Given the description of an element on the screen output the (x, y) to click on. 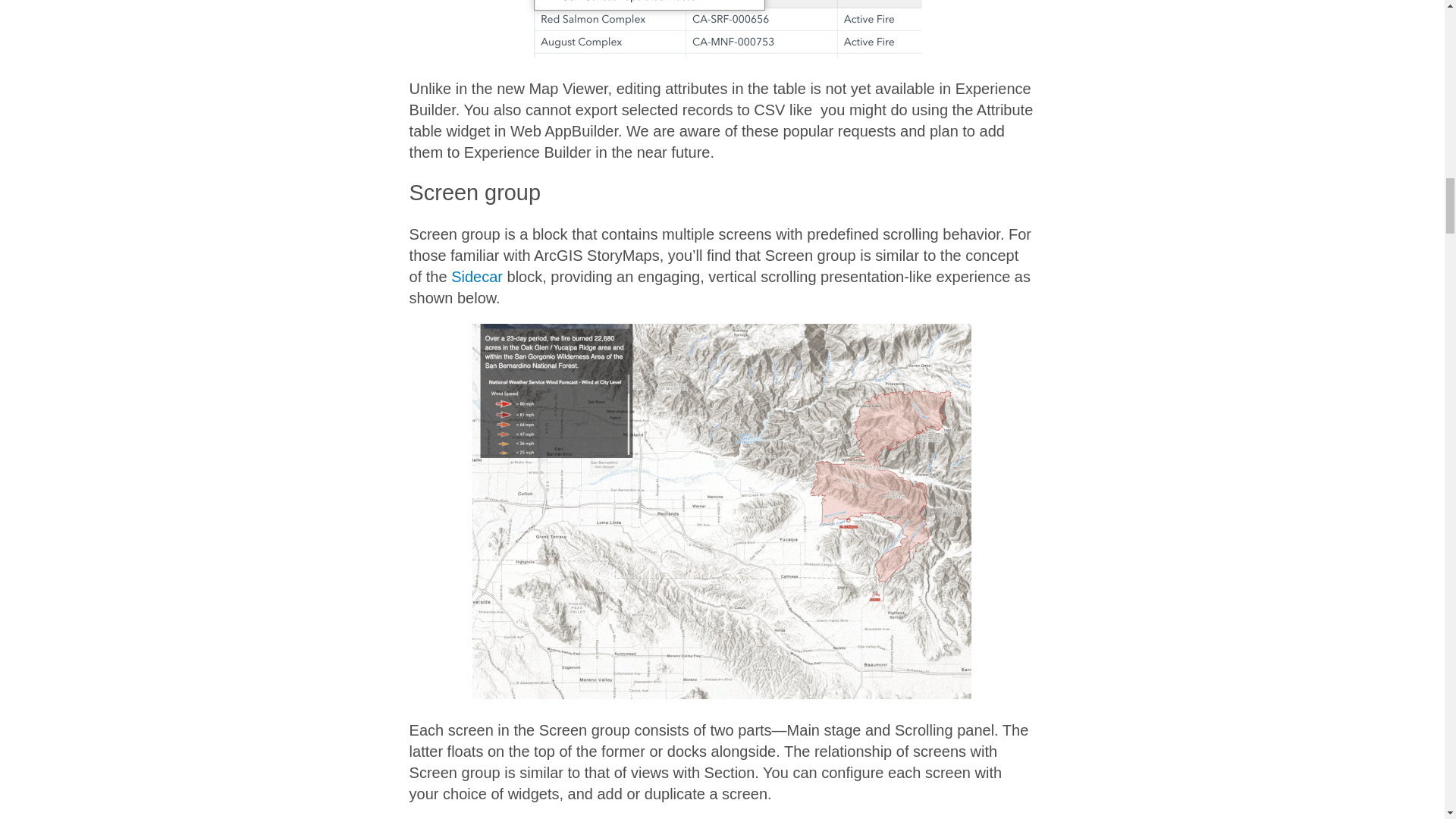
Tab or dropdown arrangement (721, 28)
Sidecar (476, 276)
